Given the description of an element on the screen output the (x, y) to click on. 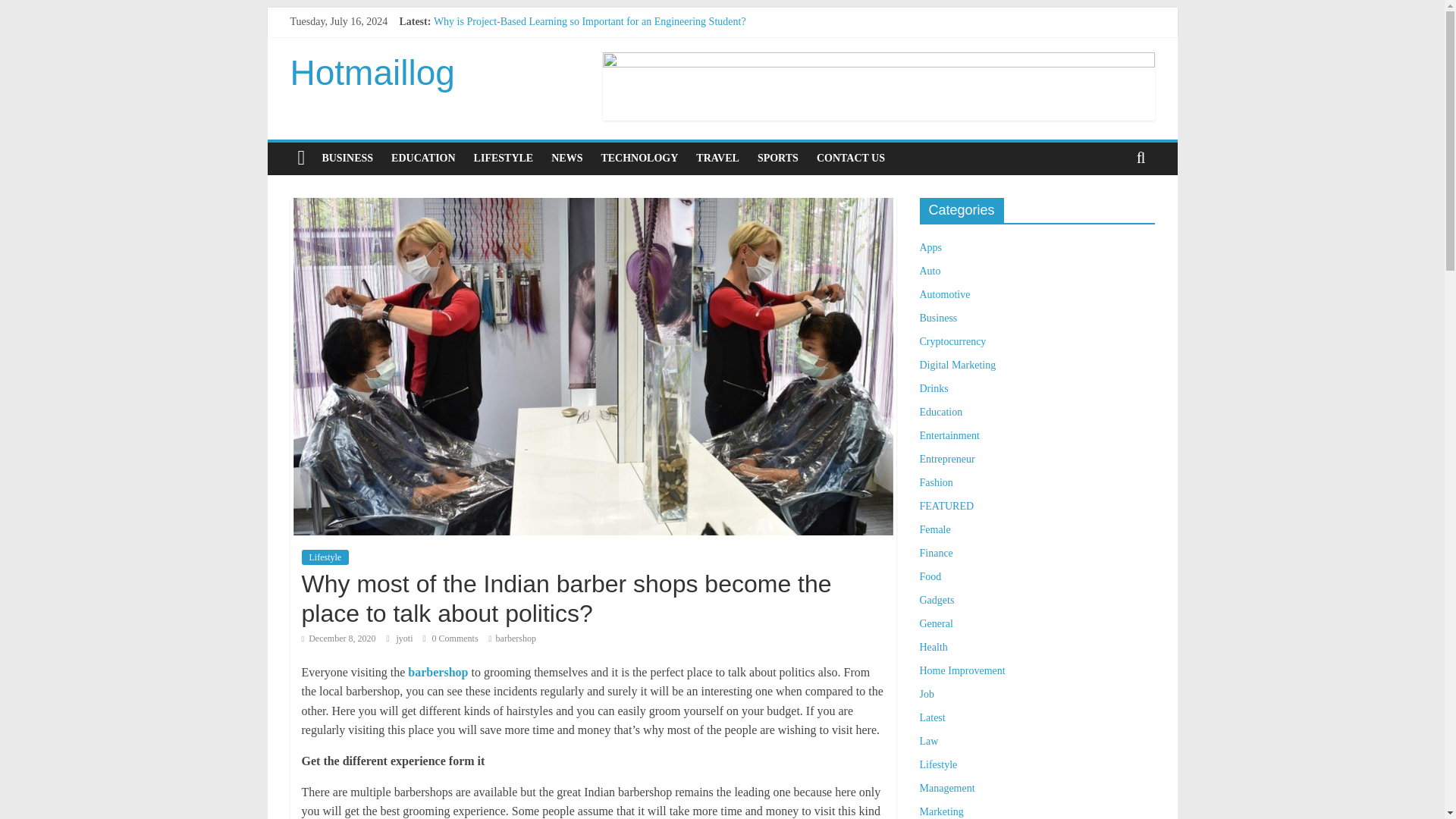
EDUCATION (422, 158)
SPORTS (778, 158)
jyoti (405, 638)
TECHNOLOGY (639, 158)
Hotmaillog (371, 72)
CONTACT US (850, 158)
barbershop (515, 638)
barbershop (437, 671)
12:02 pm (338, 638)
